Given the description of an element on the screen output the (x, y) to click on. 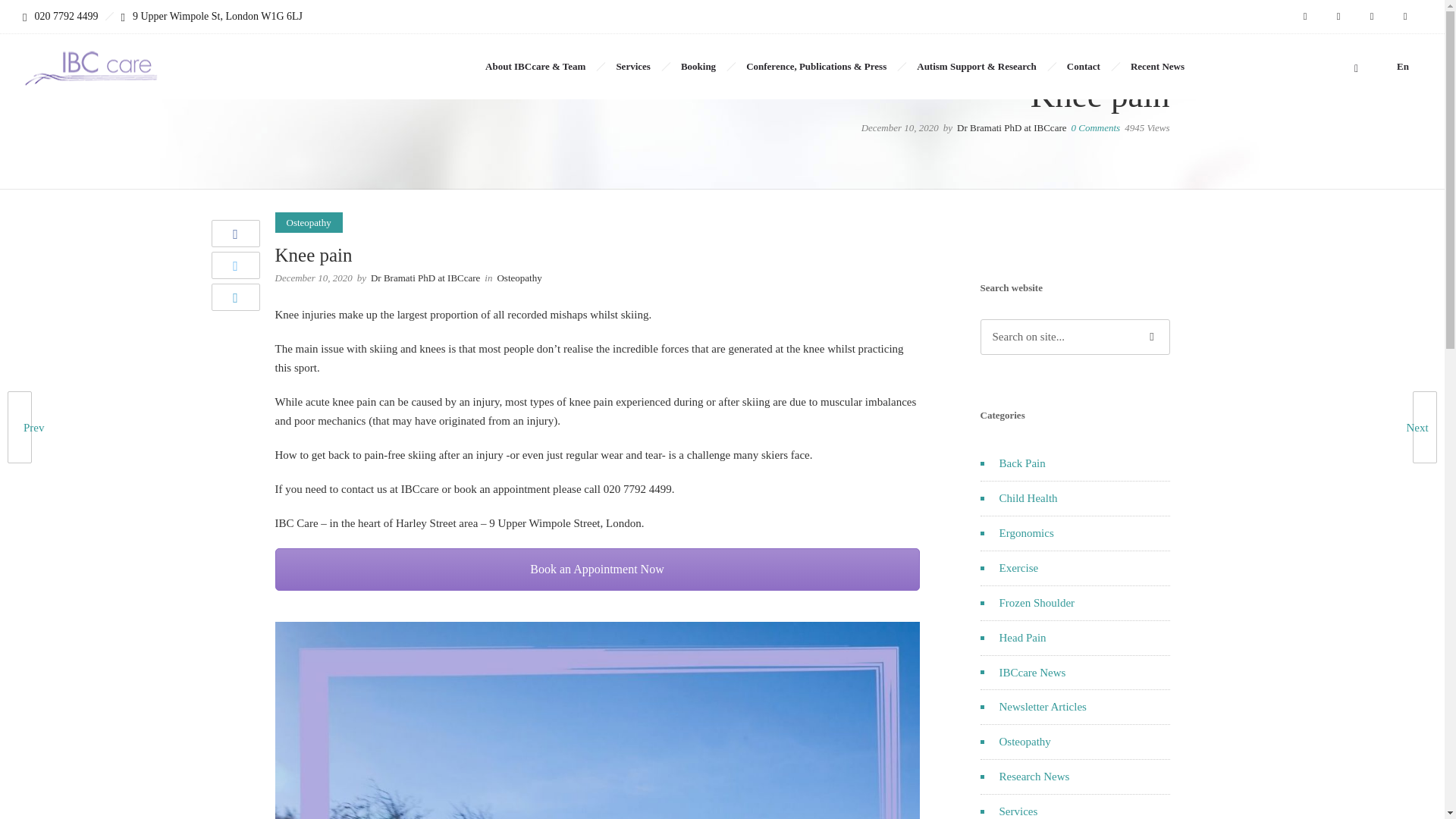
Instagram (1338, 16)
Booking (697, 66)
Facebook (1305, 16)
En (1403, 66)
LinkedIN (1372, 16)
Search (1152, 336)
Twitter (1405, 16)
Services (632, 66)
knee pain ibc care (596, 720)
